Given the description of an element on the screen output the (x, y) to click on. 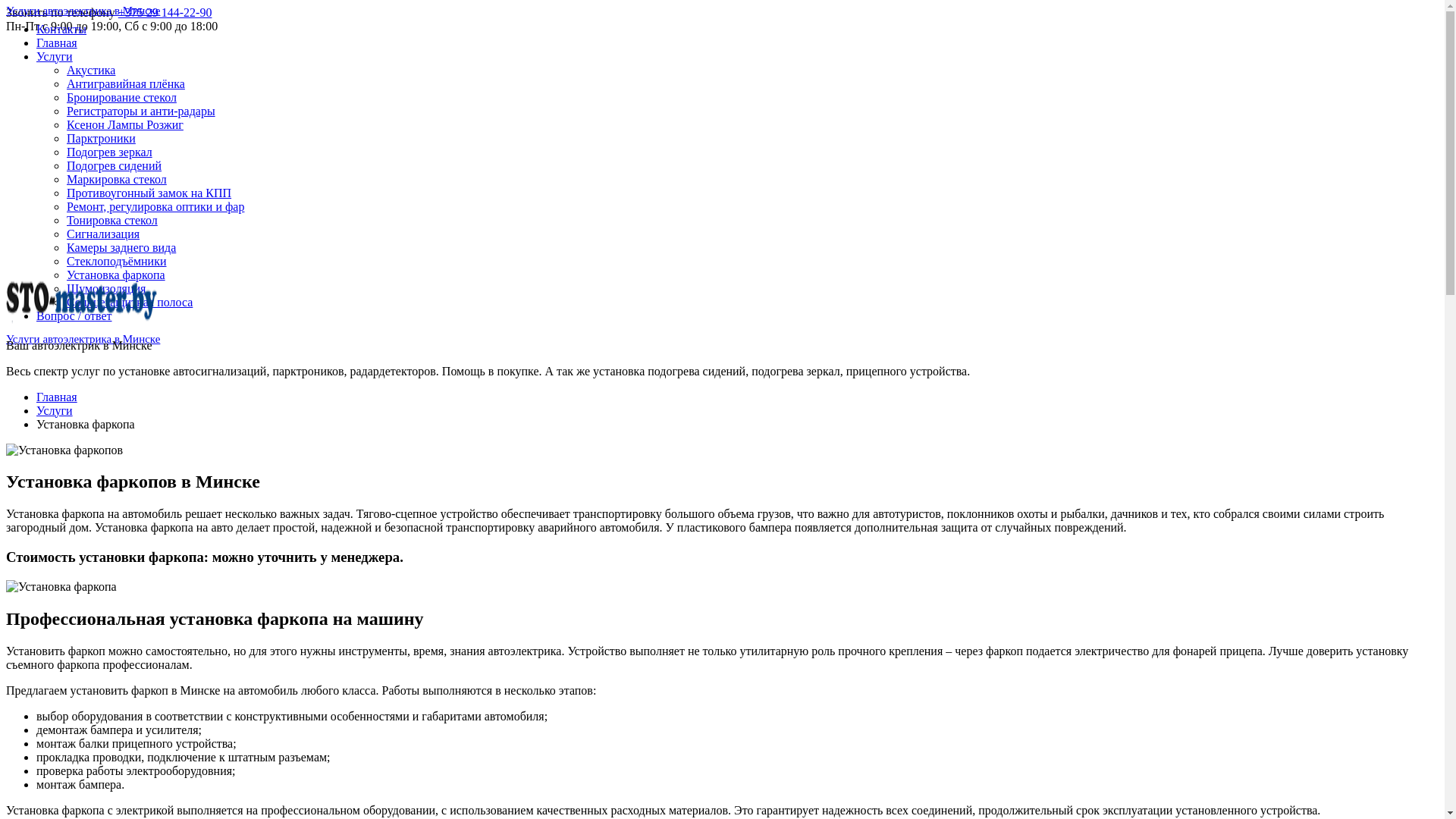
+375 29 144-22-90 Element type: text (165, 12)
